Given the description of an element on the screen output the (x, y) to click on. 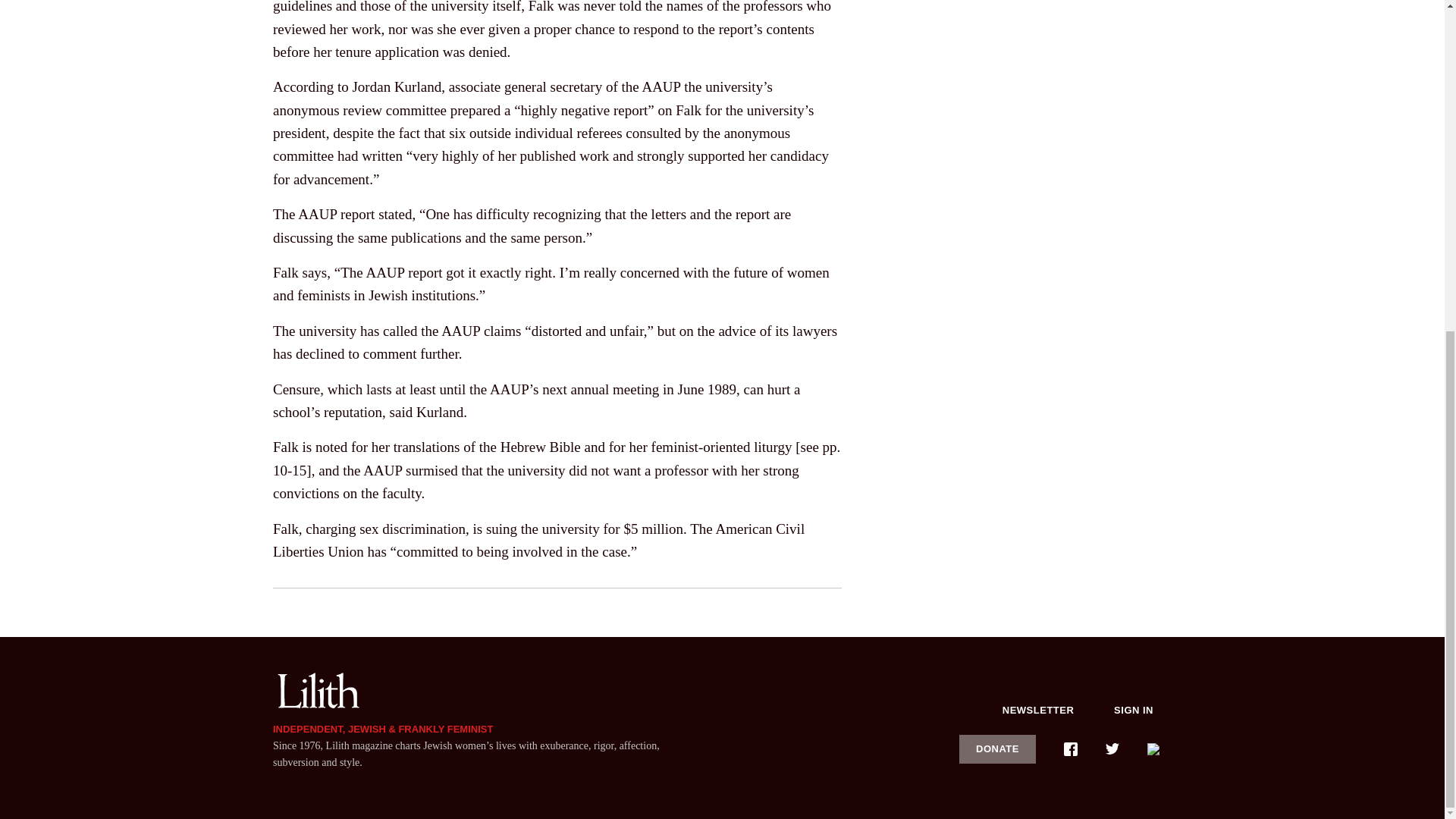
NEWSLETTER (1038, 710)
SIGN IN (1134, 710)
DONATE (997, 748)
